Given the description of an element on the screen output the (x, y) to click on. 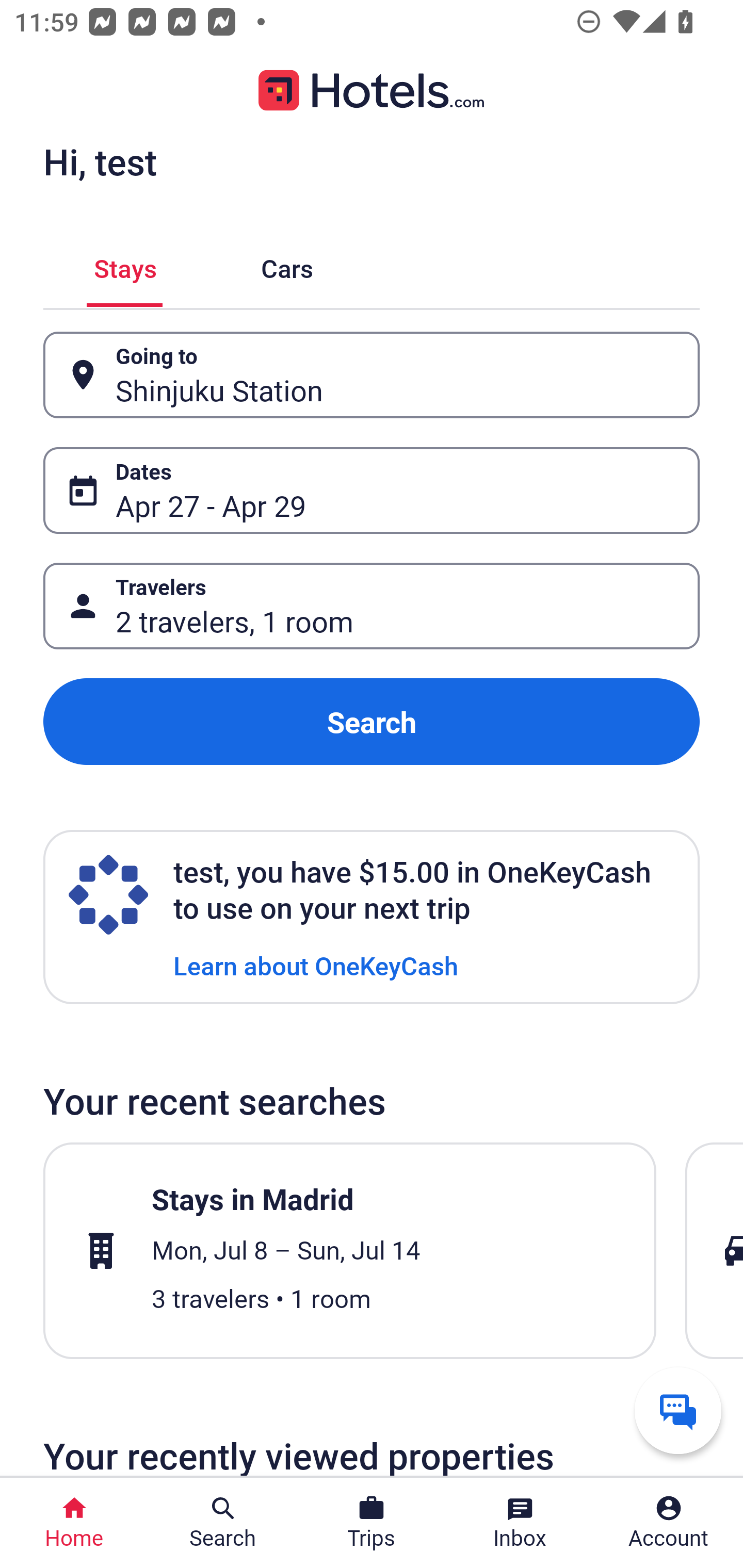
Hi, test (99, 161)
Cars (286, 265)
Going to Button Shinjuku Station (371, 375)
Dates Button Apr 27 - Apr 29 (371, 489)
Travelers Button 2 travelers, 1 room (371, 605)
Search (371, 721)
Learn about OneKeyCash Learn about OneKeyCash Link (315, 964)
Get help from a virtual agent (677, 1410)
Search Search Button (222, 1522)
Trips Trips Button (371, 1522)
Inbox Inbox Button (519, 1522)
Account Profile. Button (668, 1522)
